Given the description of an element on the screen output the (x, y) to click on. 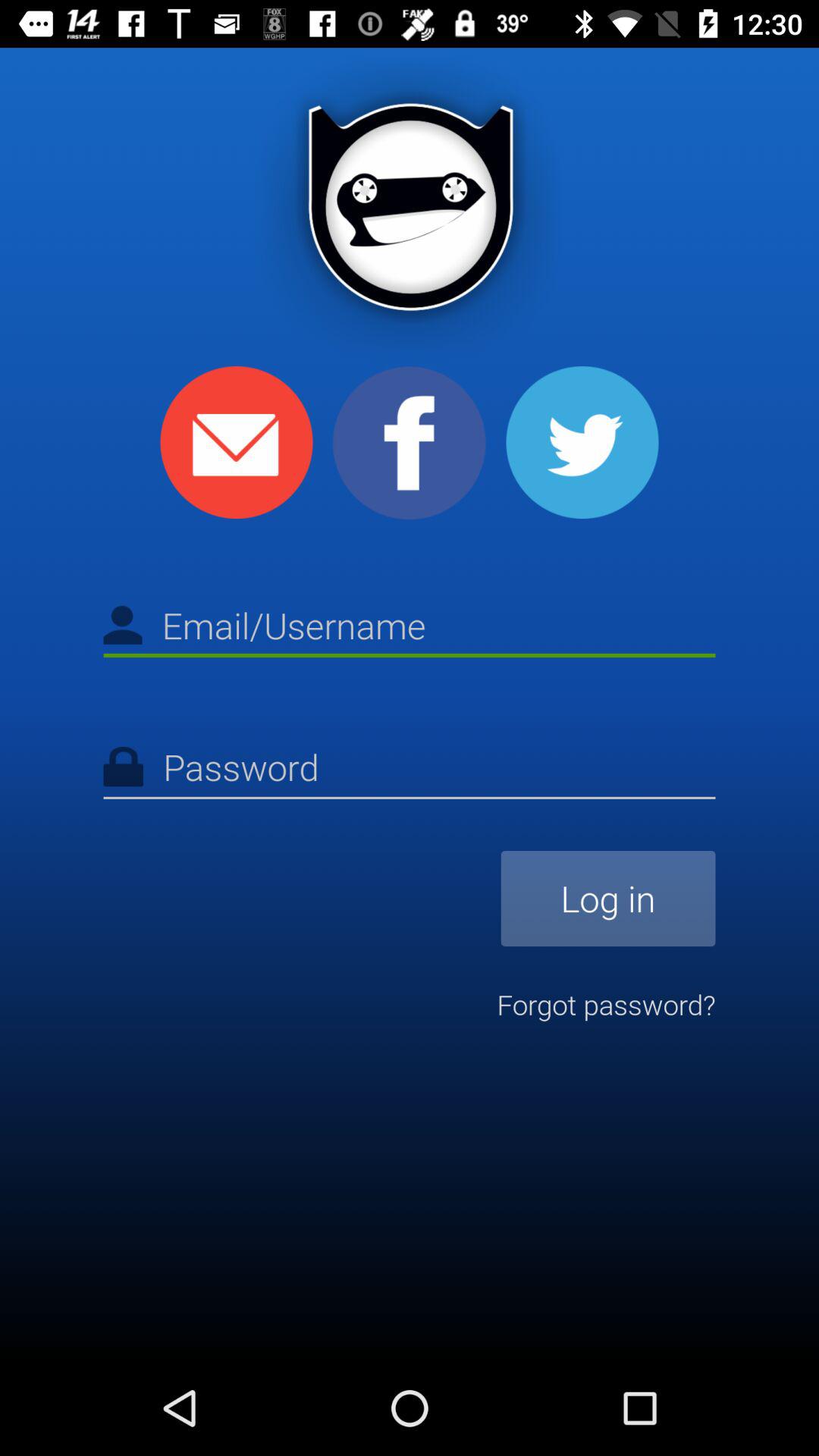
password (409, 769)
